Given the description of an element on the screen output the (x, y) to click on. 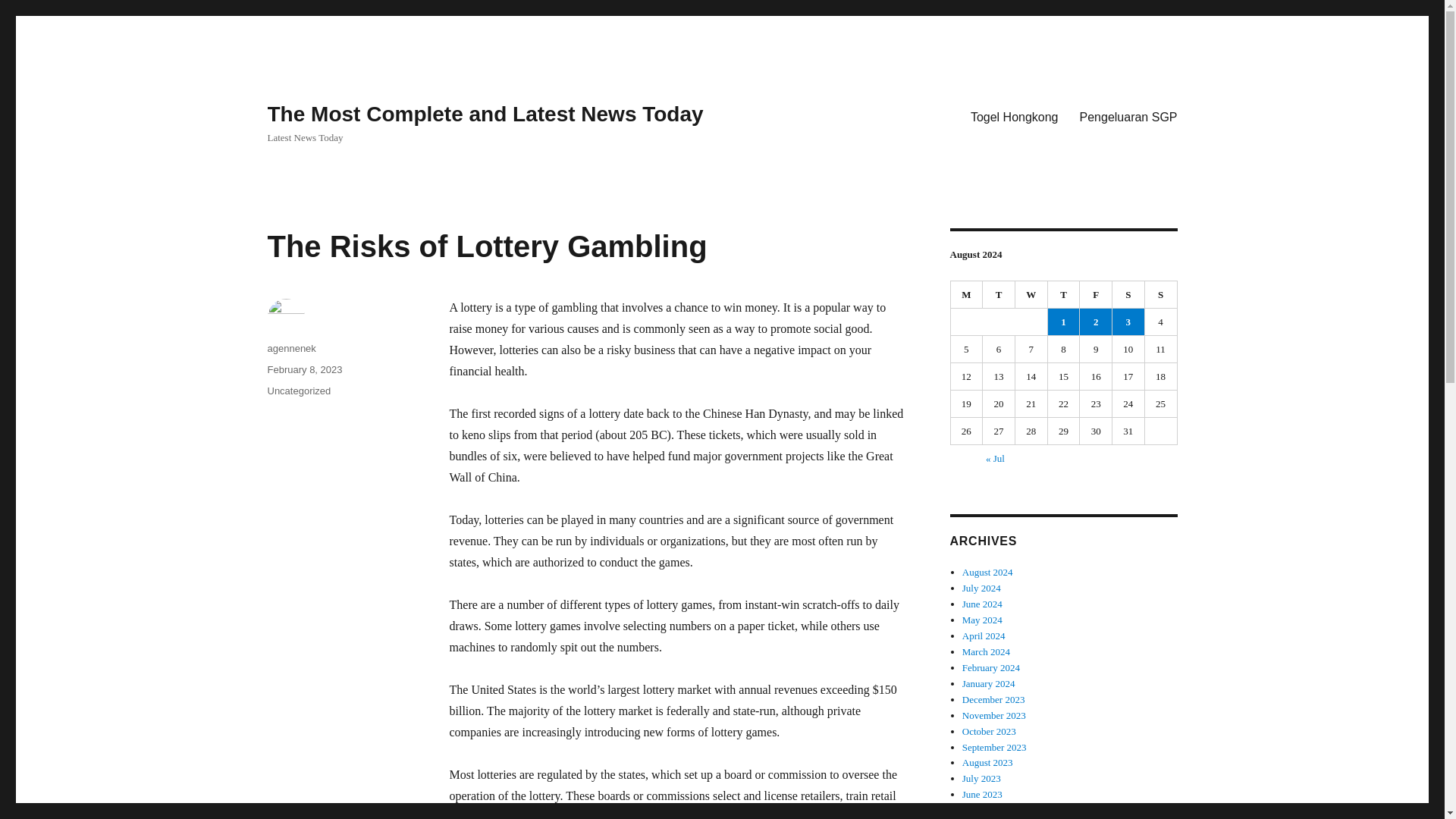
July 2023 (981, 778)
May 2023 (982, 809)
May 2024 (982, 619)
August 2024 (987, 572)
Monday (967, 294)
February 2024 (991, 667)
Togel Hongkong (1013, 116)
July 2024 (981, 587)
June 2024 (982, 603)
Saturday (1128, 294)
Thursday (1064, 294)
Tuesday (998, 294)
2 (1096, 321)
Pengeluaran SGP (1128, 116)
1 (1064, 321)
